Given the description of an element on the screen output the (x, y) to click on. 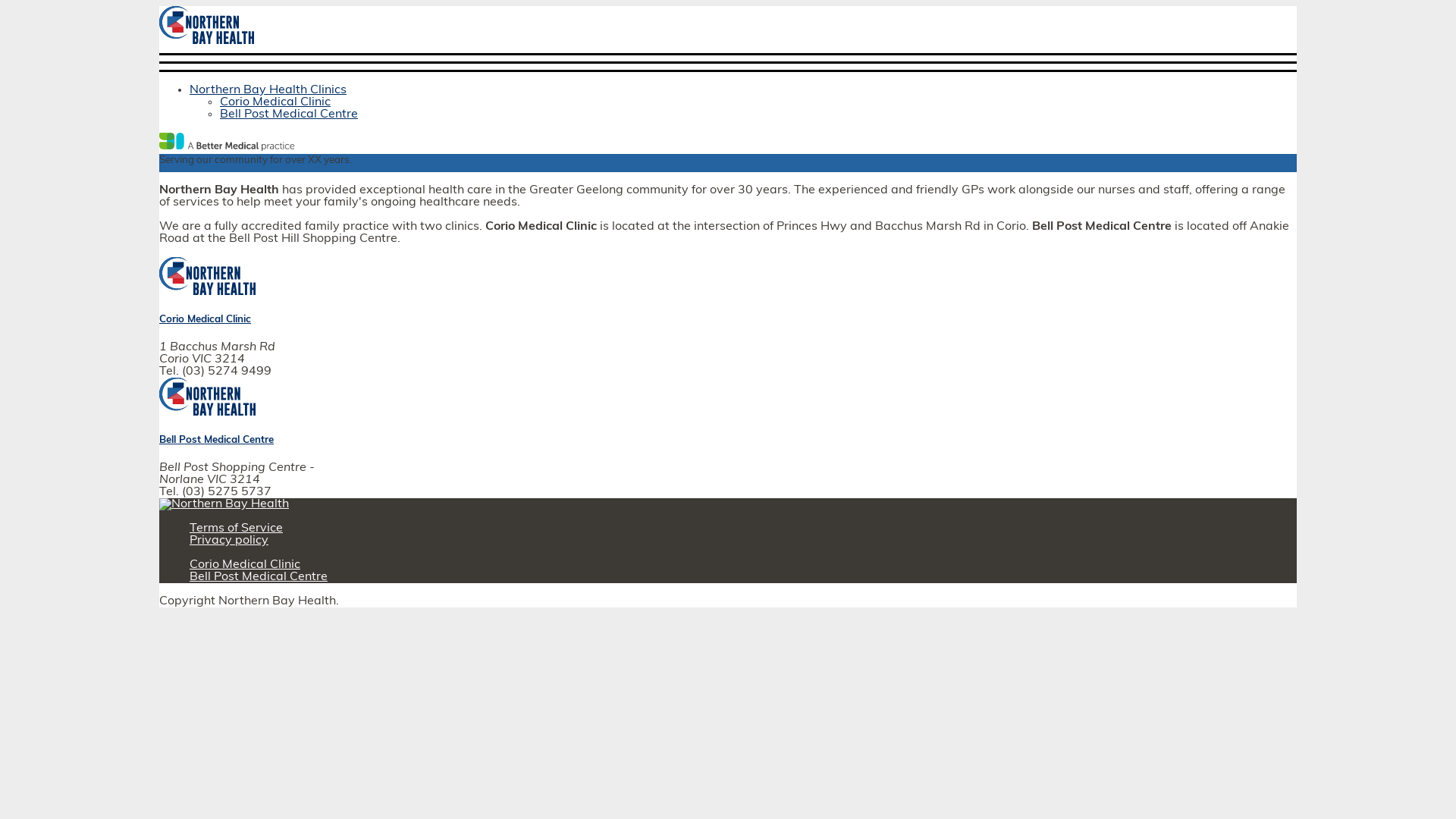
Corio Medical Clinic Element type: text (244, 564)
Bell Post Medical Centre Element type: text (216, 440)
Corio Medical Clinic Element type: text (205, 319)
Northern Bay Health Clinics Element type: text (267, 90)
Privacy policy Element type: text (228, 540)
Bell Post Medical Centre Element type: text (288, 114)
Terms of Service Element type: text (235, 528)
Bell Post Medical Centre Element type: text (258, 577)
Corio Medical Clinic Element type: text (274, 102)
